Given the description of an element on the screen output the (x, y) to click on. 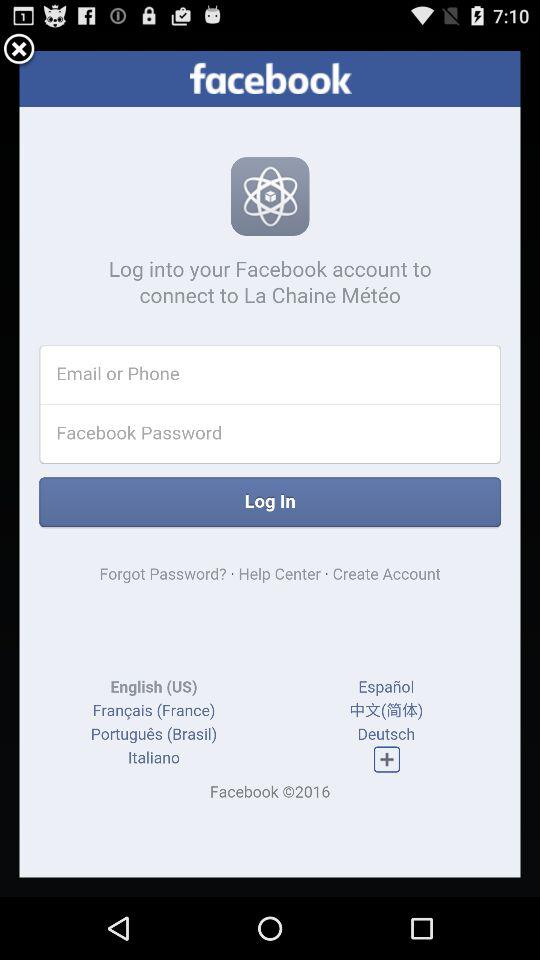
close button (19, 50)
